Given the description of an element on the screen output the (x, y) to click on. 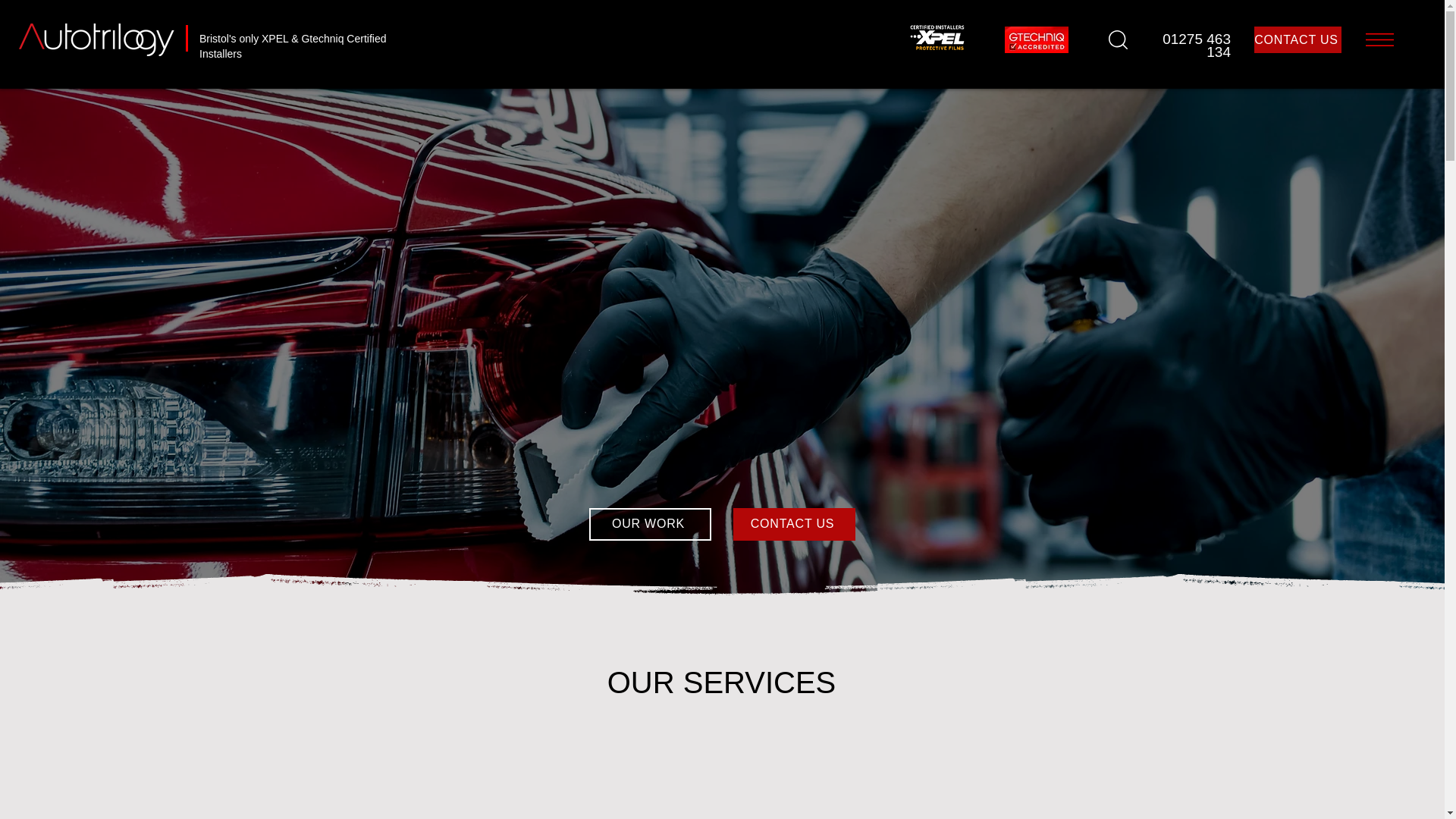
CONTACT US (1296, 39)
CONTACT US (793, 523)
01275 463 134 (1195, 45)
OUR WORK (649, 523)
